Given the description of an element on the screen output the (x, y) to click on. 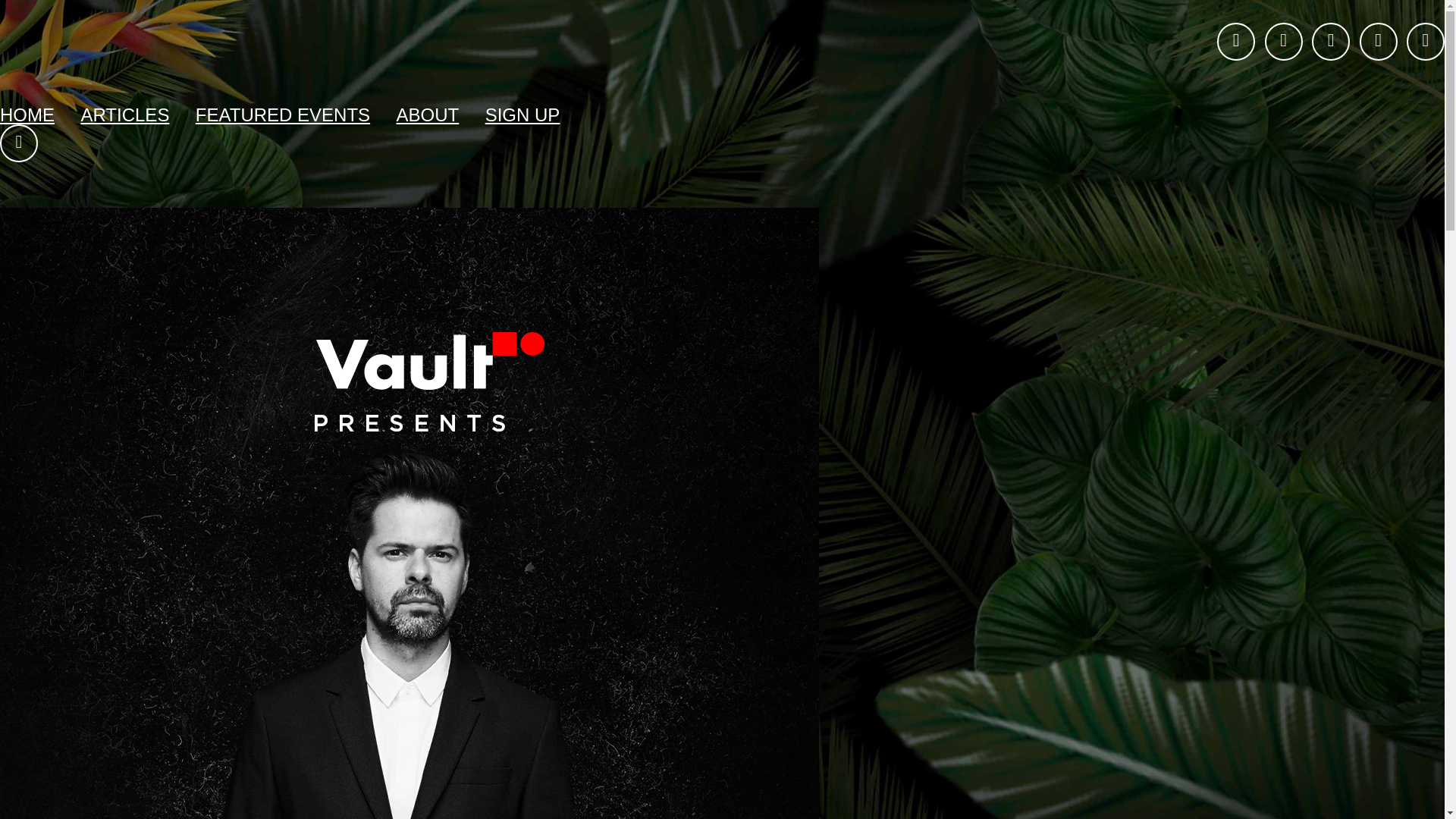
HOME (27, 114)
SIGN UP (522, 114)
ARTICLES (124, 114)
ABOUT (428, 114)
FEATURED EVENTS (282, 114)
